Given the description of an element on the screen output the (x, y) to click on. 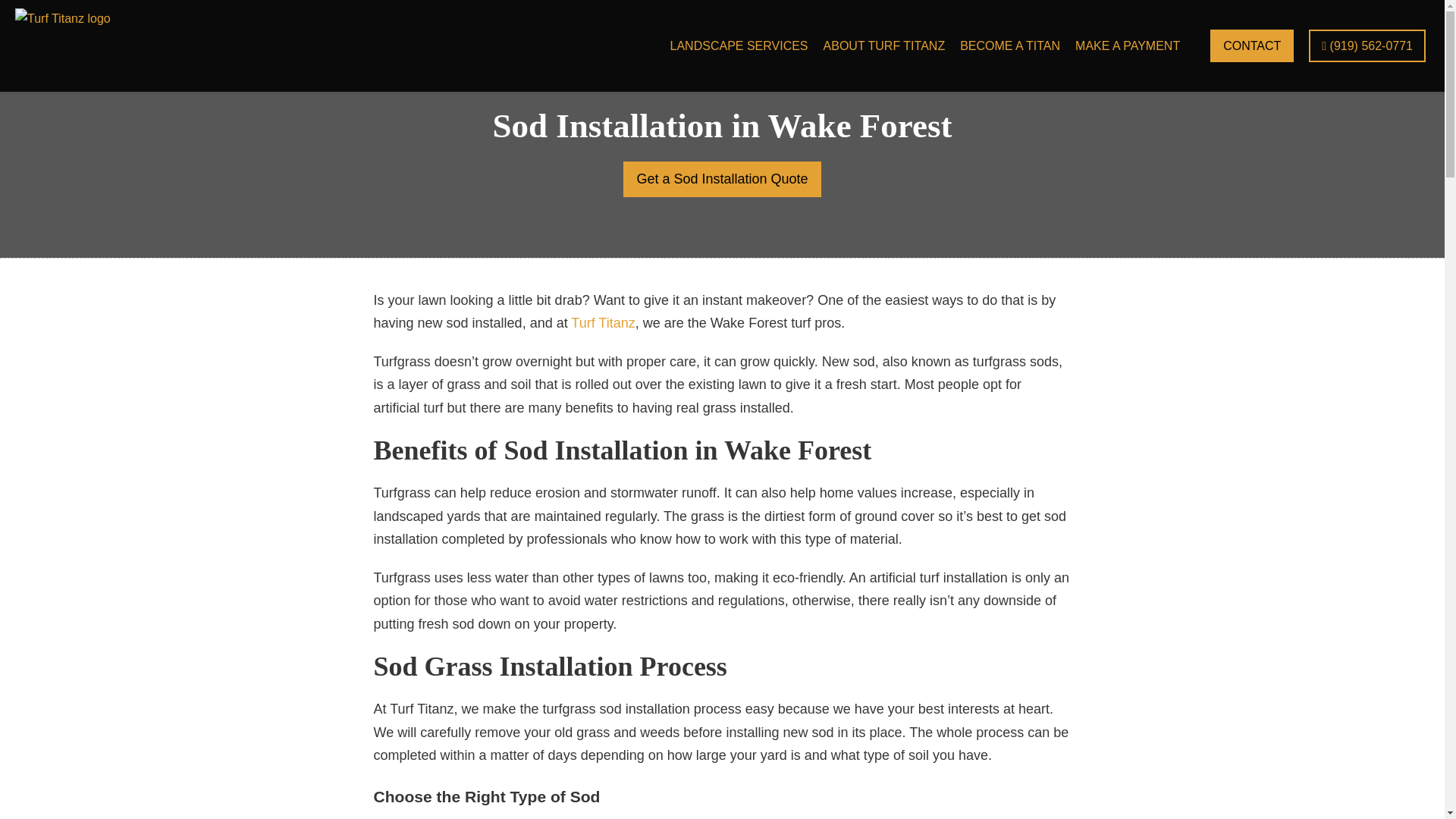
CONTACT (1251, 45)
LANDSCAPE SERVICES (738, 46)
BECOME A TITAN (1009, 46)
ABOUT TURF TITANZ (884, 46)
MAKE A PAYMENT (1127, 46)
